Given the description of an element on the screen output the (x, y) to click on. 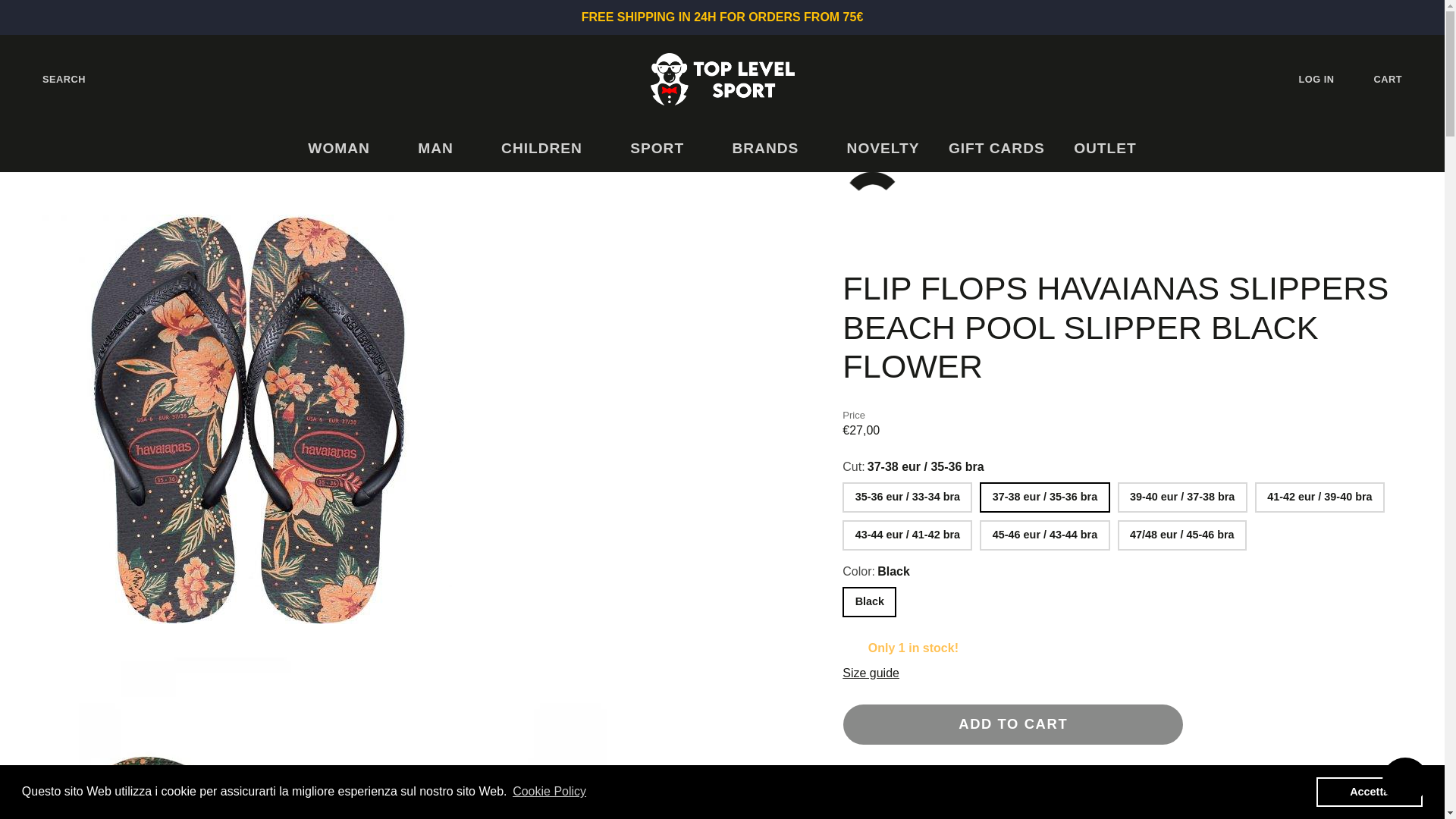
SEARCH (51, 79)
Shopify online store chat (1404, 781)
WOMAN (348, 148)
Cookie Policy (549, 791)
CART (1399, 79)
Accetta (1369, 791)
LOG IN (1328, 79)
